Given the description of an element on the screen output the (x, y) to click on. 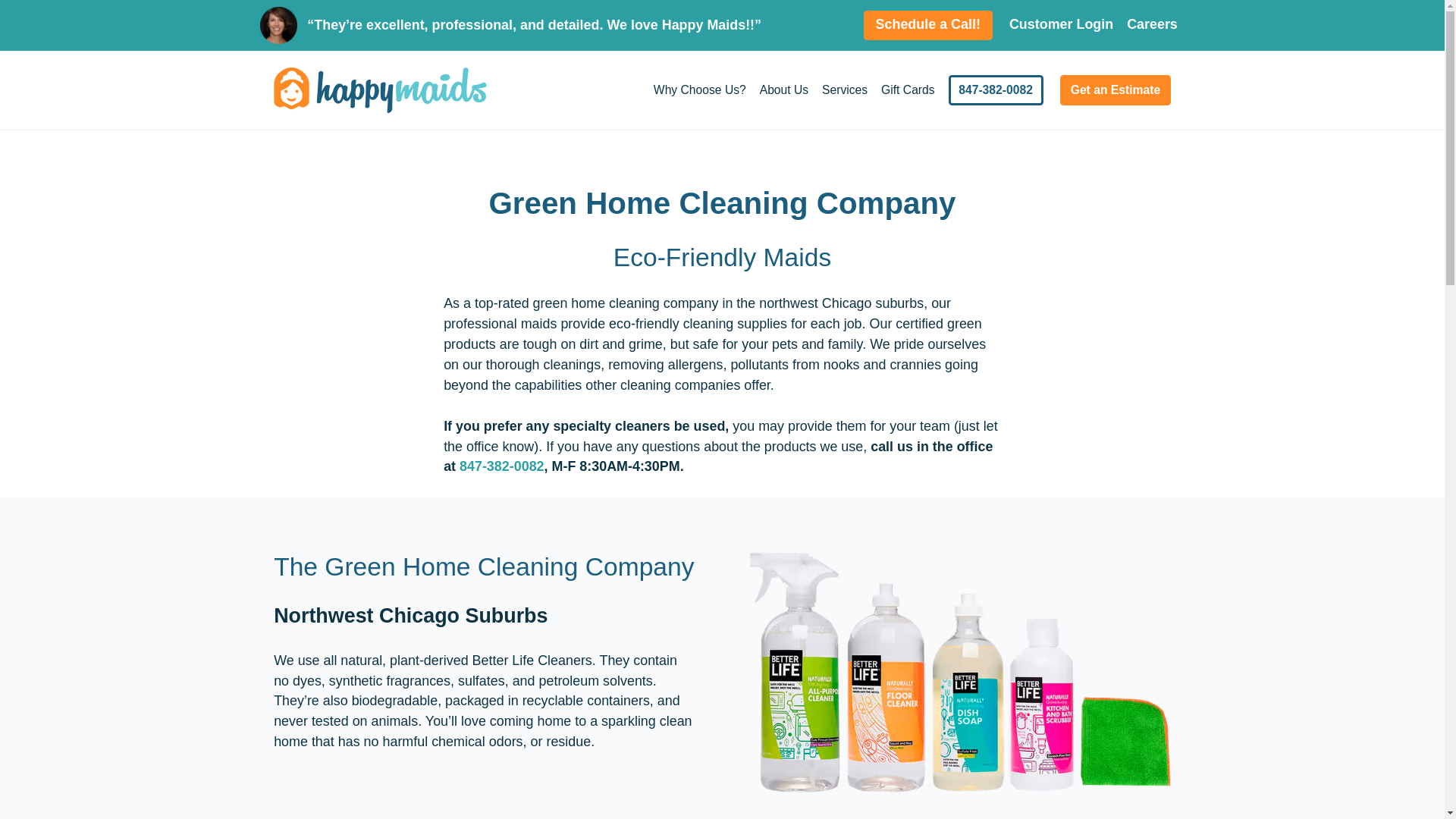
About Us (784, 89)
847-382-0082 (996, 90)
Why Choose Us? (699, 89)
847-382-0082 (502, 466)
Gift Cards (907, 89)
Schedule a Call! (927, 25)
Customer Login (1061, 24)
Home (379, 90)
Careers (1152, 24)
Services (844, 89)
Get an Estimate (1114, 90)
